Given the description of an element on the screen output the (x, y) to click on. 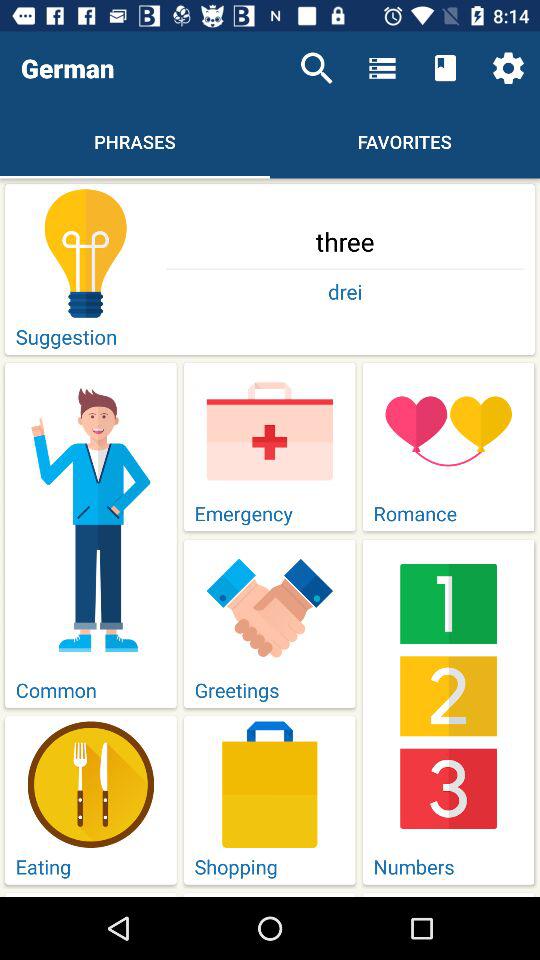
open the item above the three icon (508, 67)
